Given the description of an element on the screen output the (x, y) to click on. 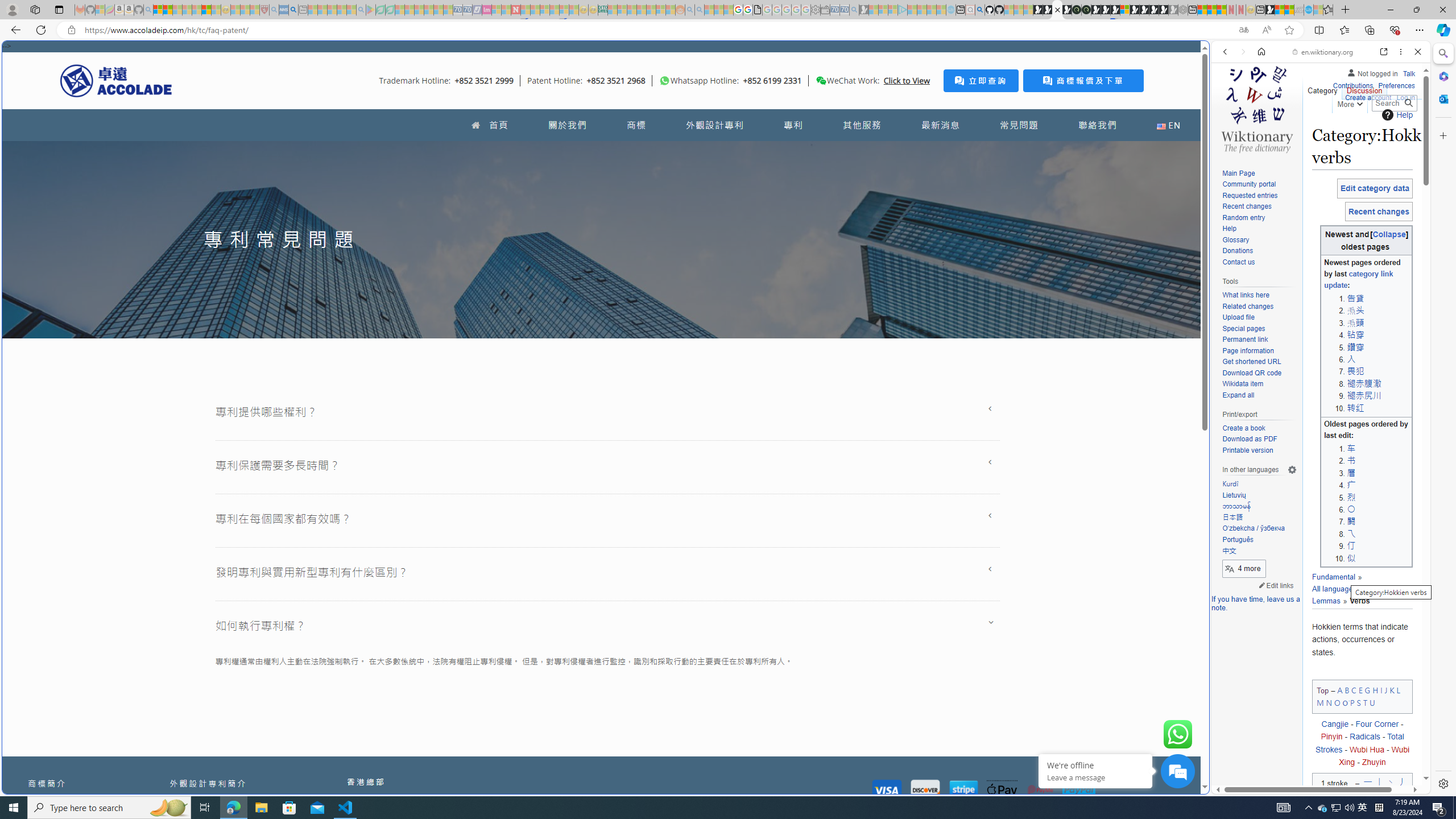
Requested entries (1259, 196)
Cangjie (1334, 723)
If you have time, leave us a note. (1255, 603)
Glossary (1235, 239)
Four Corner (1377, 723)
